Given the description of an element on the screen output the (x, y) to click on. 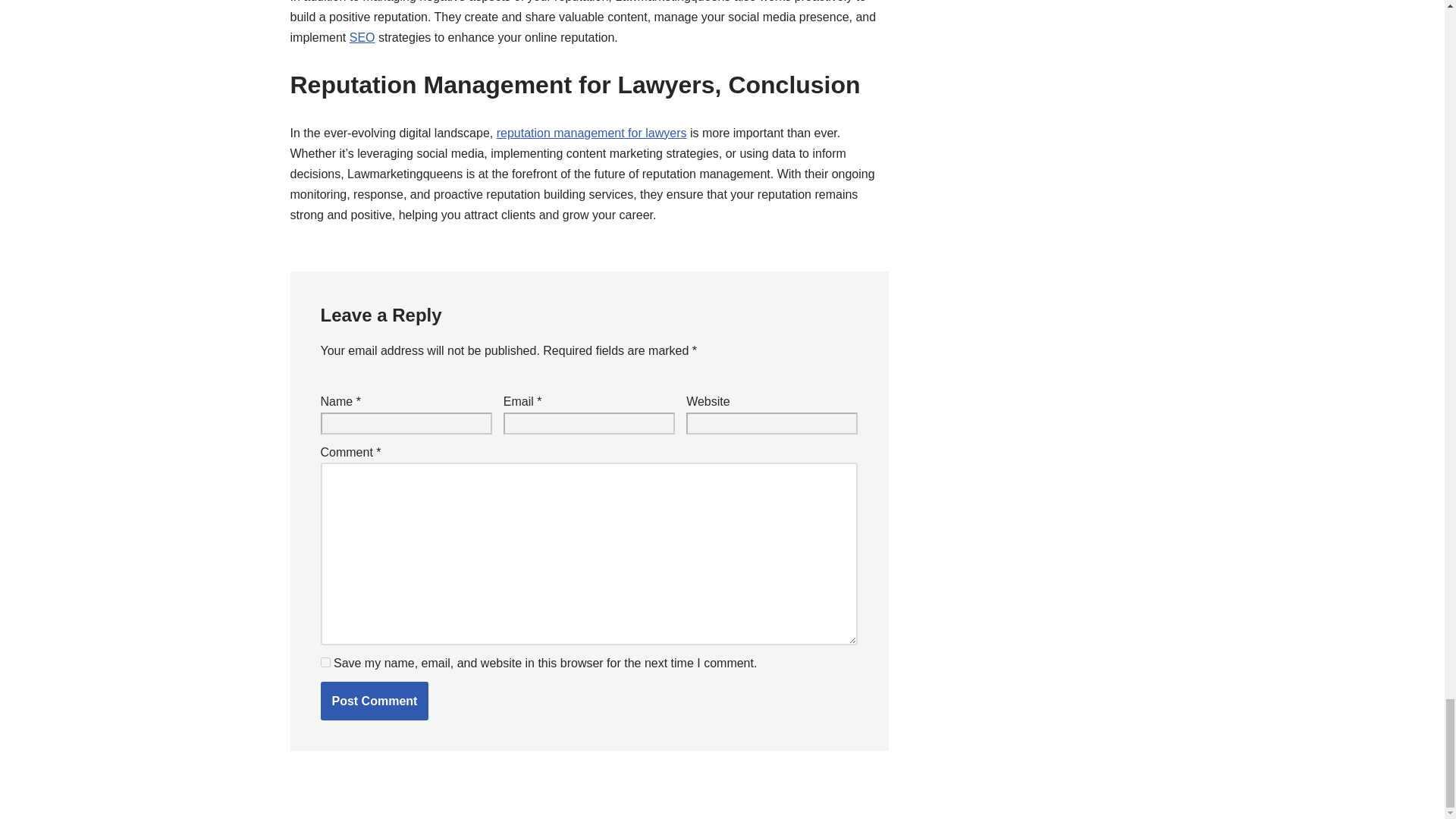
yes (325, 662)
Post Comment (374, 701)
SEO (362, 37)
Post Comment (374, 701)
reputation management for lawyers (591, 132)
